Given the description of an element on the screen output the (x, y) to click on. 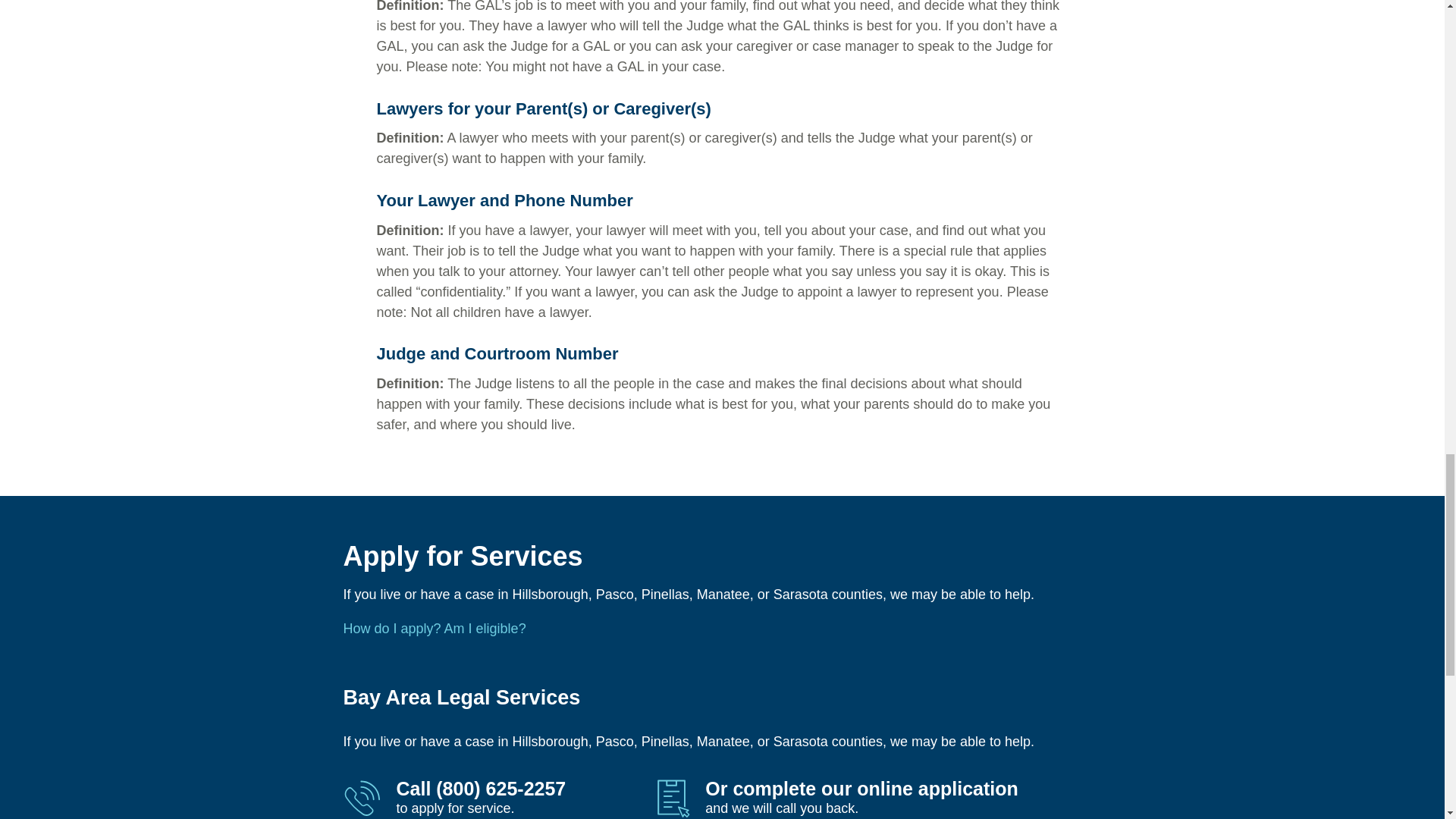
How do I apply? Am I eligible? (433, 628)
How Do I Apply? Am I Eligible? (433, 628)
